Given the description of an element on the screen output the (x, y) to click on. 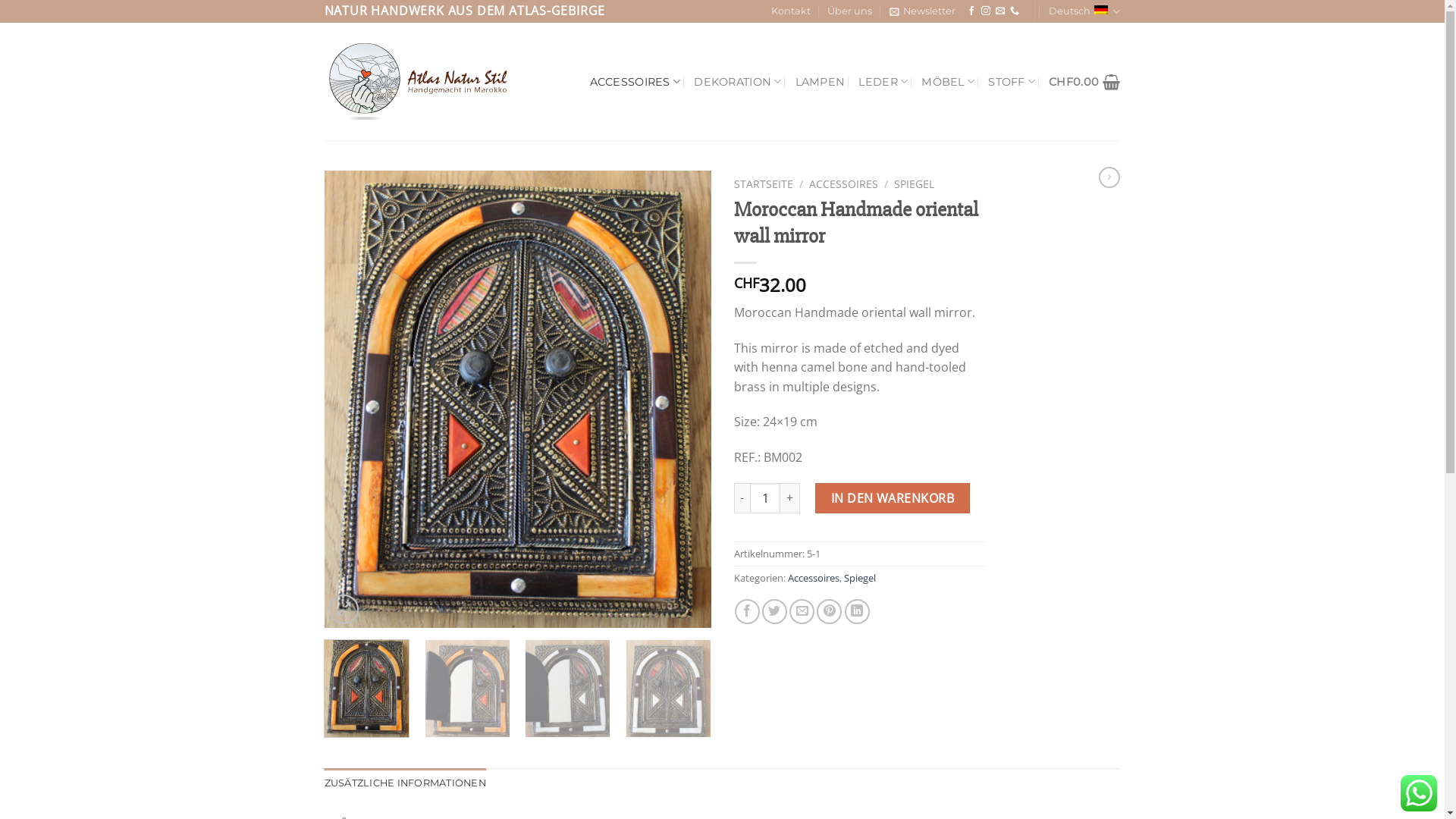
LEDER Element type: text (882, 81)
Newsletter Element type: text (922, 11)
SPIEGEL Element type: text (914, 183)
Deutsch Element type: text (1084, 11)
ACCESSOIRES Element type: text (843, 183)
Handmade-Moroccan-oriental-wall-mirror-BM002--- Element type: hover (517, 398)
Kontakt Element type: text (790, 11)
Accessoires Element type: text (812, 577)
DEKORATION Element type: text (737, 81)
Menge Element type: hover (764, 498)
IN DEN WARENKORB Element type: text (892, 498)
CHF0.00 Element type: text (1084, 81)
Spiegel Element type: text (859, 577)
LAMPEN Element type: text (820, 81)
ACCESSOIRES Element type: text (634, 81)
Atlas Natur Stil - Handicraft from Morocco Element type: hover (421, 81)
STOFF Element type: text (1011, 81)
STARTSEITE Element type: text (763, 183)
